Given the description of an element on the screen output the (x, y) to click on. 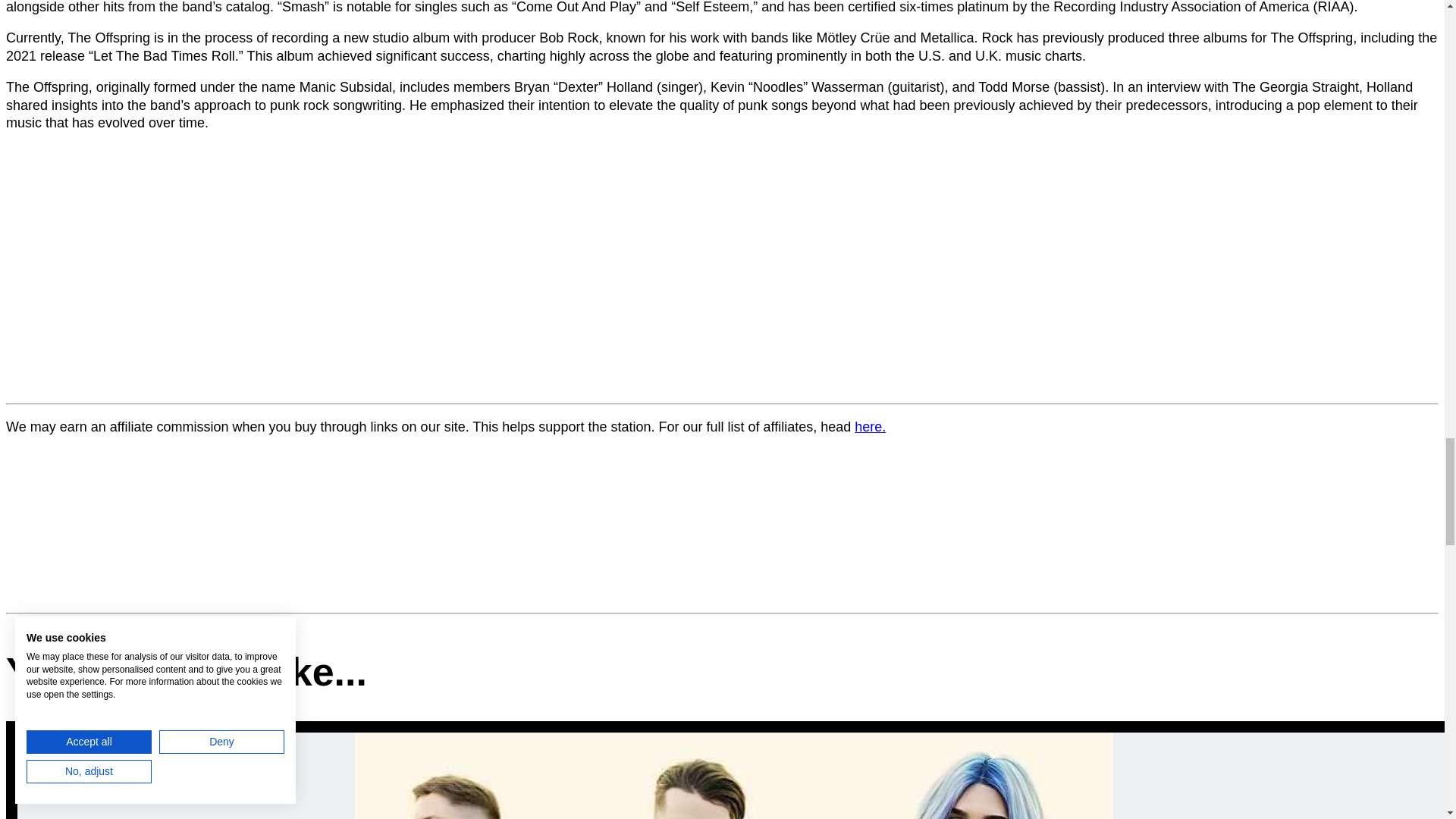
YouTube video player (217, 264)
